Given the description of an element on the screen output the (x, y) to click on. 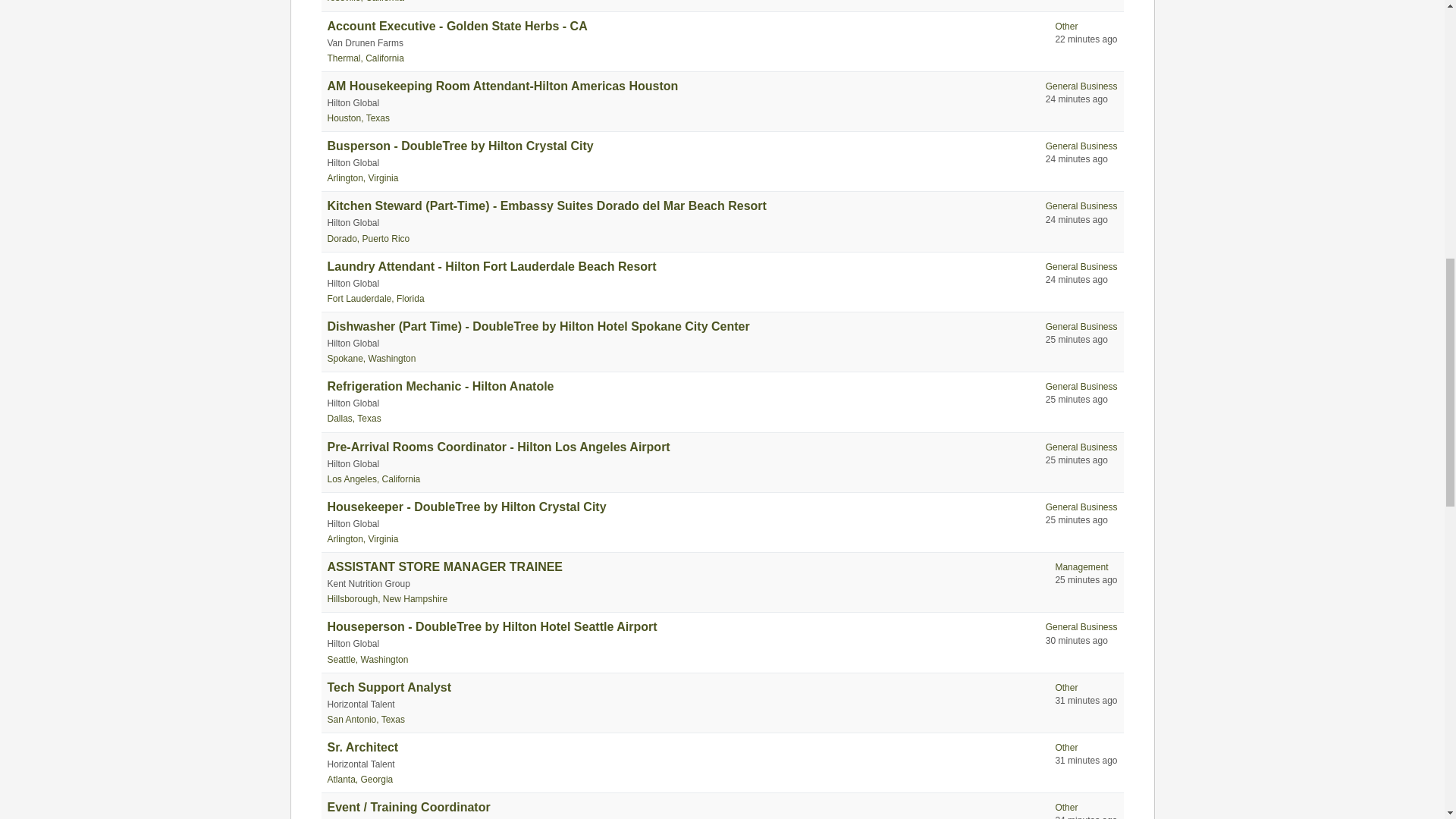
Thermal, California (365, 58)
Other (1065, 26)
General Business (1081, 145)
Account Executive - Golden State Herbs - CA (457, 25)
General Business (1081, 86)
AM Housekeeping Room Attendant-Hilton Americas Houston (502, 85)
roseville, California (365, 1)
Houston, Texas (358, 118)
Busperson - DoubleTree by Hilton Crystal City (460, 145)
Arlington, Virginia (362, 177)
